Given the description of an element on the screen output the (x, y) to click on. 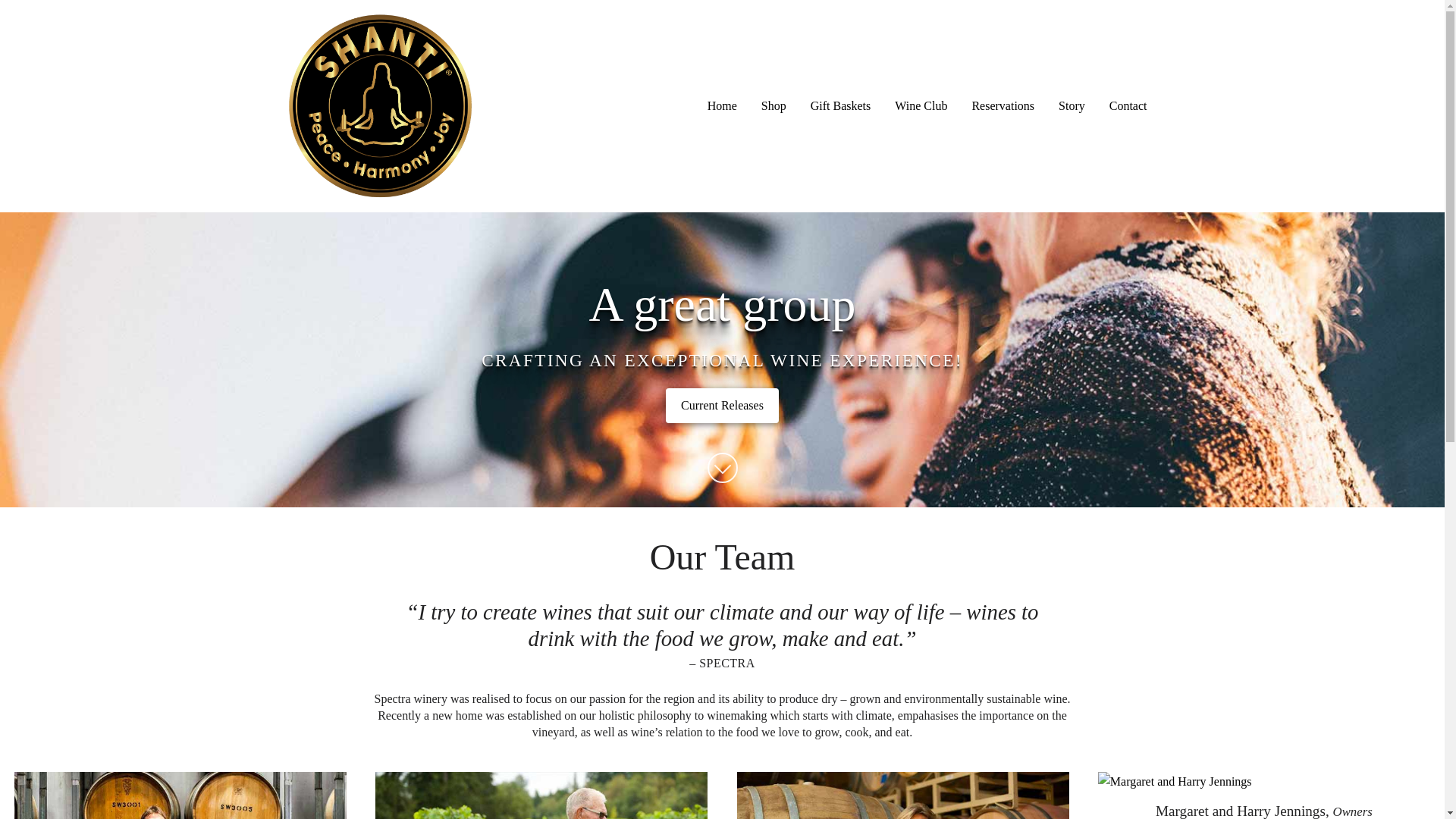
Story (1071, 106)
Contact (1127, 106)
Reservations (1002, 106)
Shop (773, 106)
Wine Club (920, 106)
Current Releases (721, 405)
Gift Baskets (840, 106)
Home (722, 106)
